Given the description of an element on the screen output the (x, y) to click on. 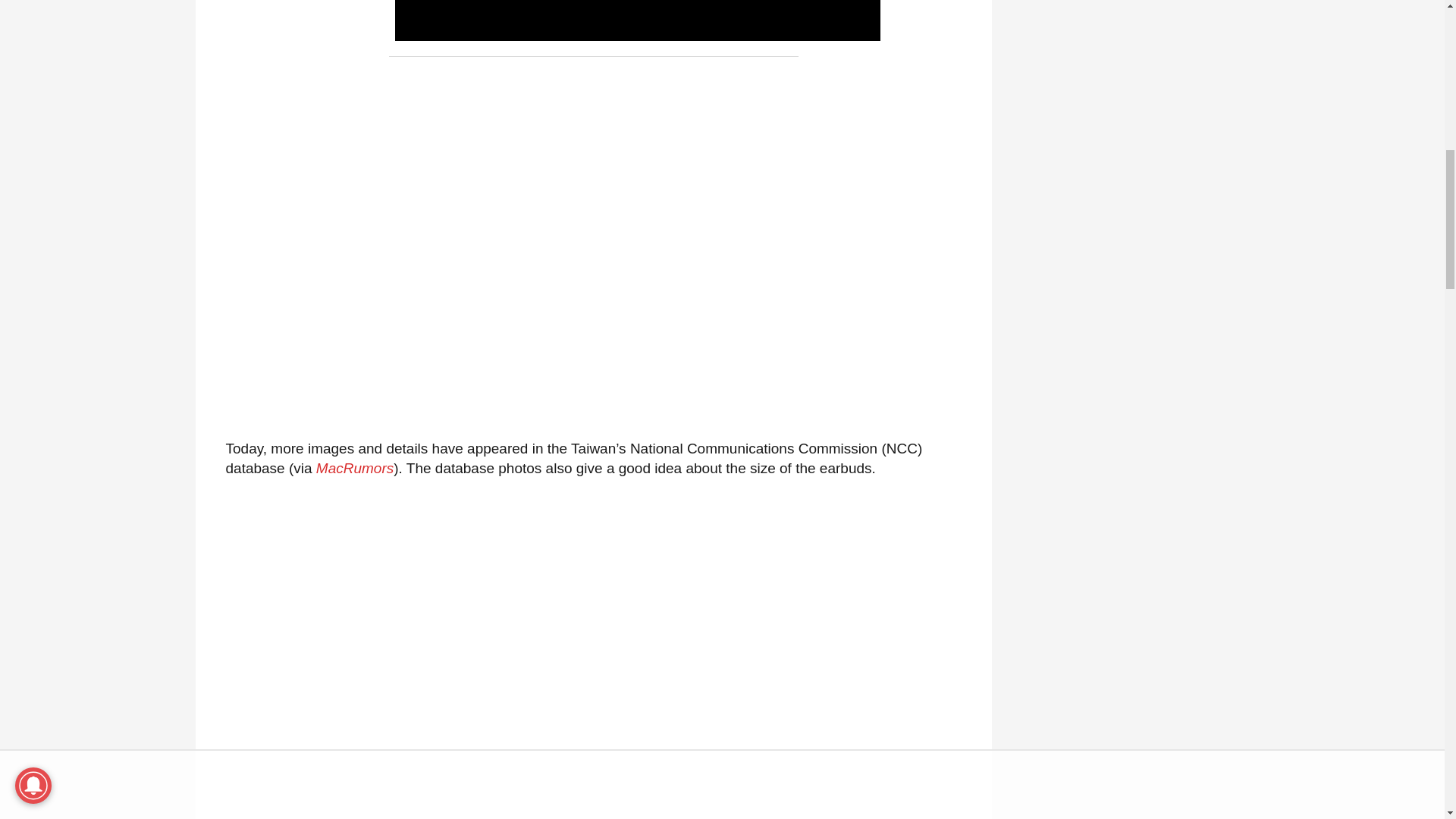
MacRumors (354, 467)
